Given the description of an element on the screen output the (x, y) to click on. 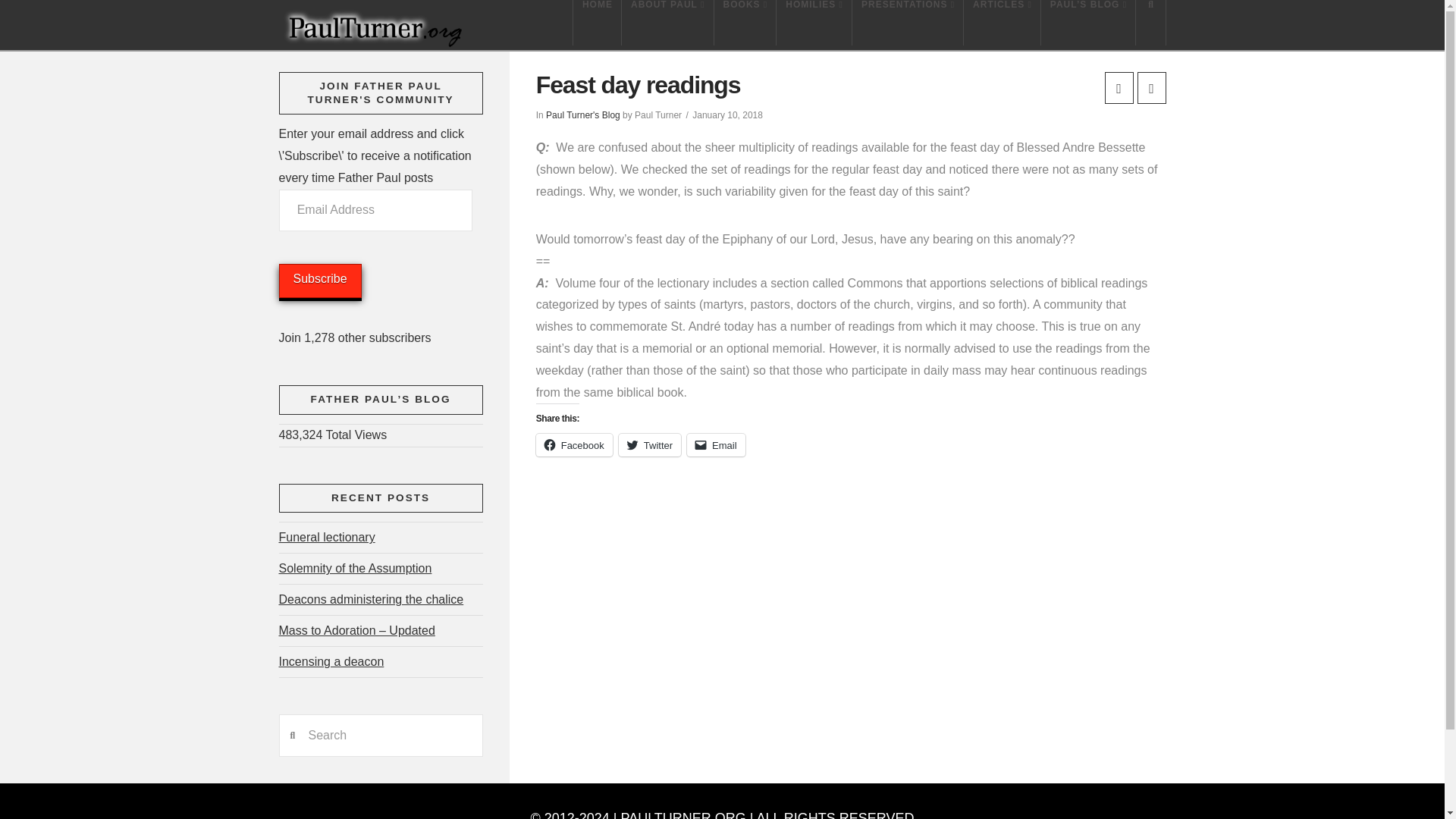
Paul Turner Books (745, 22)
HOMILIES (813, 22)
Click to email a link to a friend (716, 445)
ABOUT PAUL (667, 22)
Click to share on Facebook (573, 445)
BOOKS (745, 22)
HOME (596, 22)
Click to share on Twitter (649, 445)
